Given the description of an element on the screen output the (x, y) to click on. 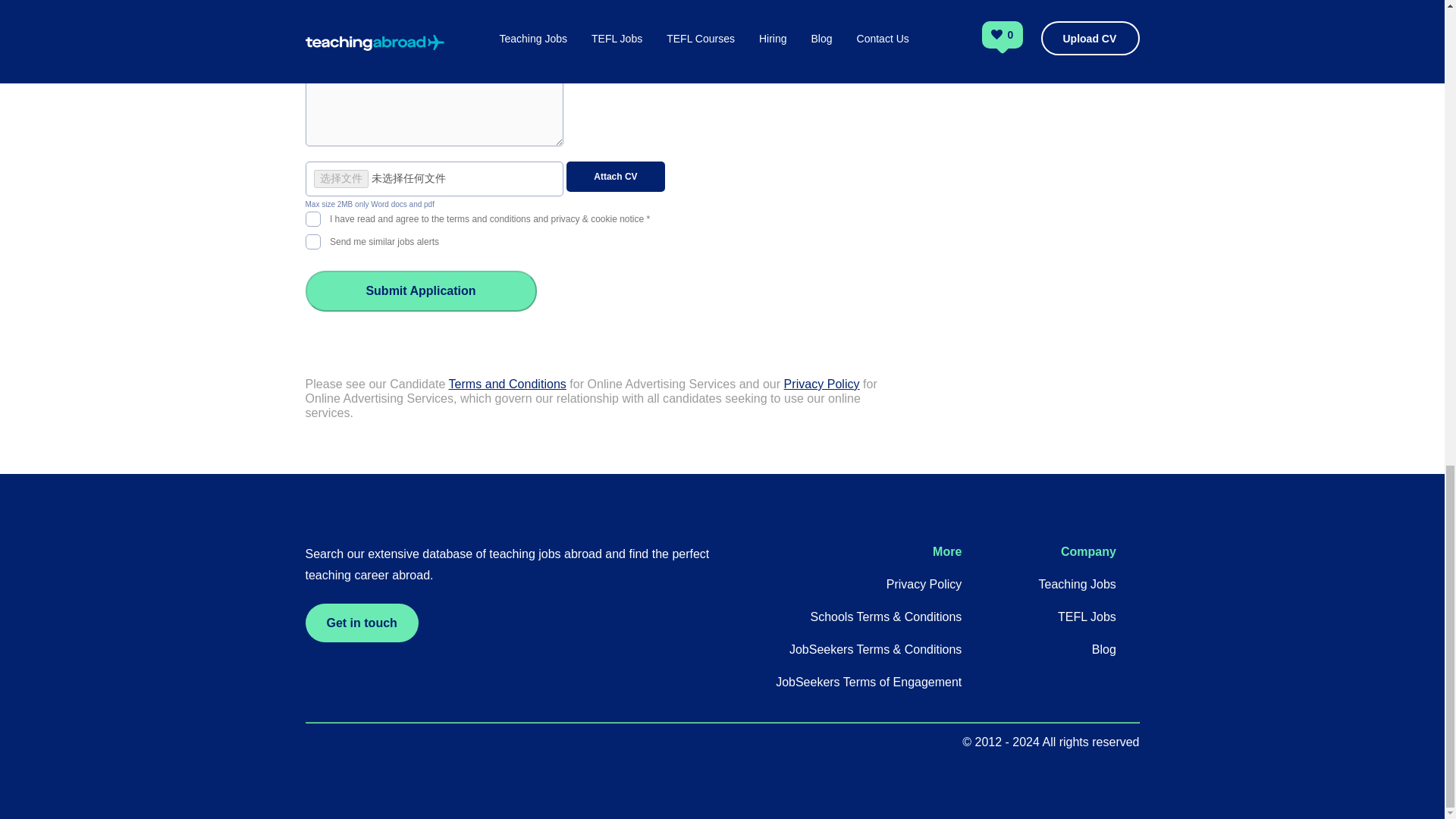
Privacy Policy (924, 584)
Blog (1104, 649)
Get in touch (360, 622)
on (312, 216)
on (312, 239)
Terms and Conditions (507, 383)
Submit Application (419, 291)
TEFL Jobs (1087, 616)
Teaching Jobs (1077, 584)
JobSeekers Terms of Engagement (868, 681)
Privacy Policy (822, 383)
Please see our Candidate (376, 383)
